Given the description of an element on the screen output the (x, y) to click on. 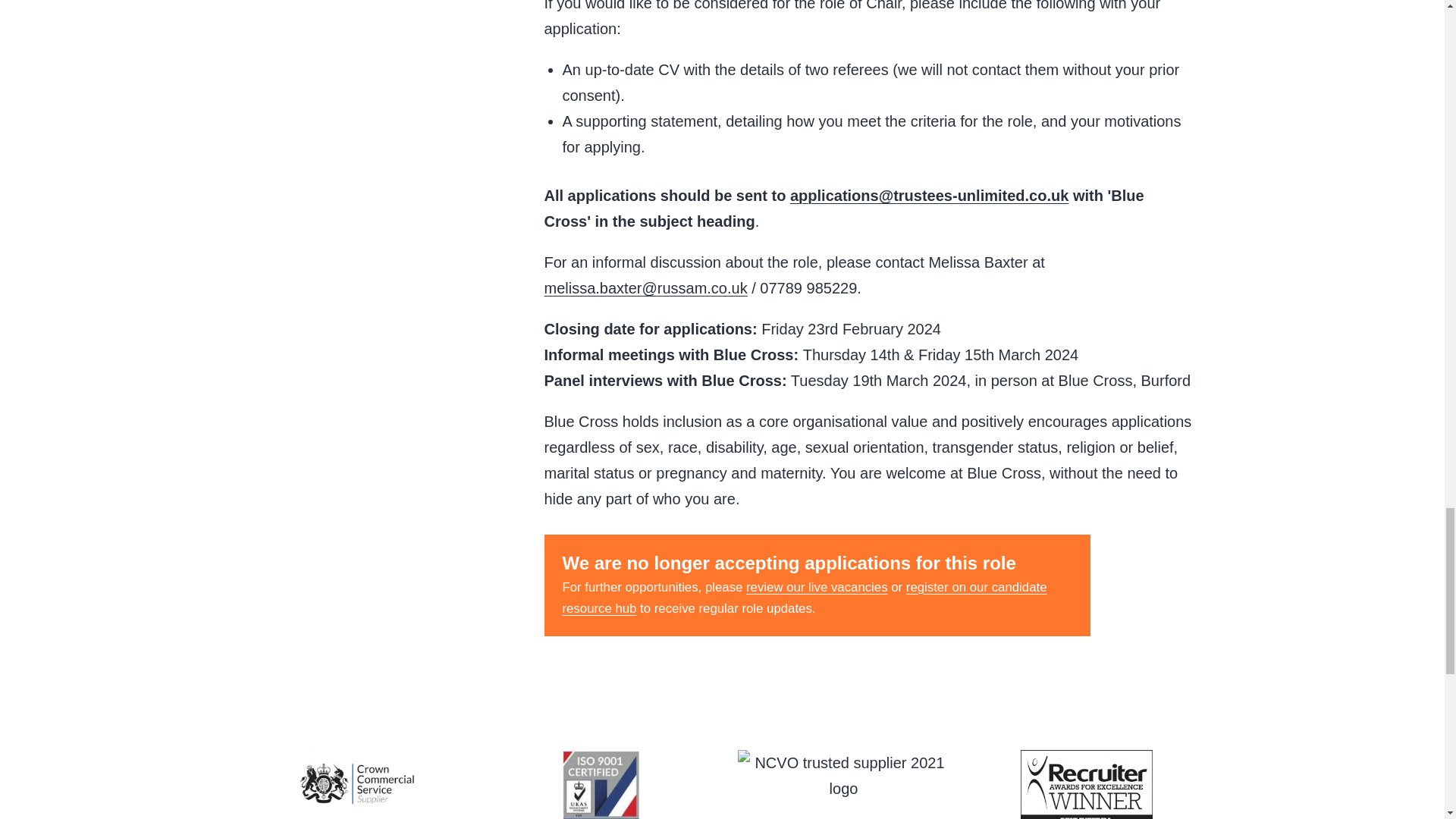
review our live vacancies (816, 586)
